Given the description of an element on the screen output the (x, y) to click on. 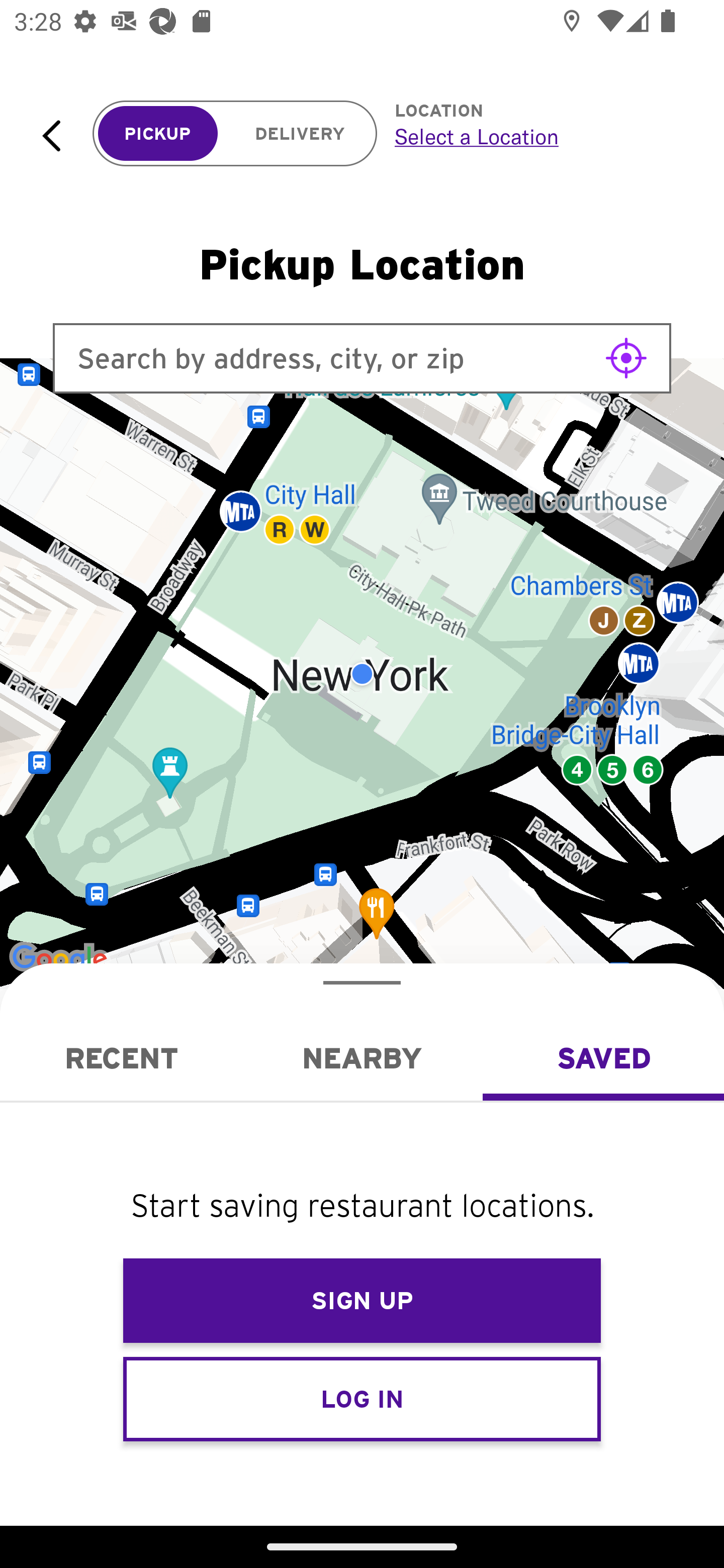
PICKUP (157, 133)
DELIVERY (299, 133)
Select a Location (536, 136)
Search by address, city, or zip (361, 358)
Google Map (362, 674)
Recent RECENT (120, 1058)
Nearby NEARBY (361, 1058)
SIGN UP (361, 1300)
LOG IN (361, 1398)
